Given the description of an element on the screen output the (x, y) to click on. 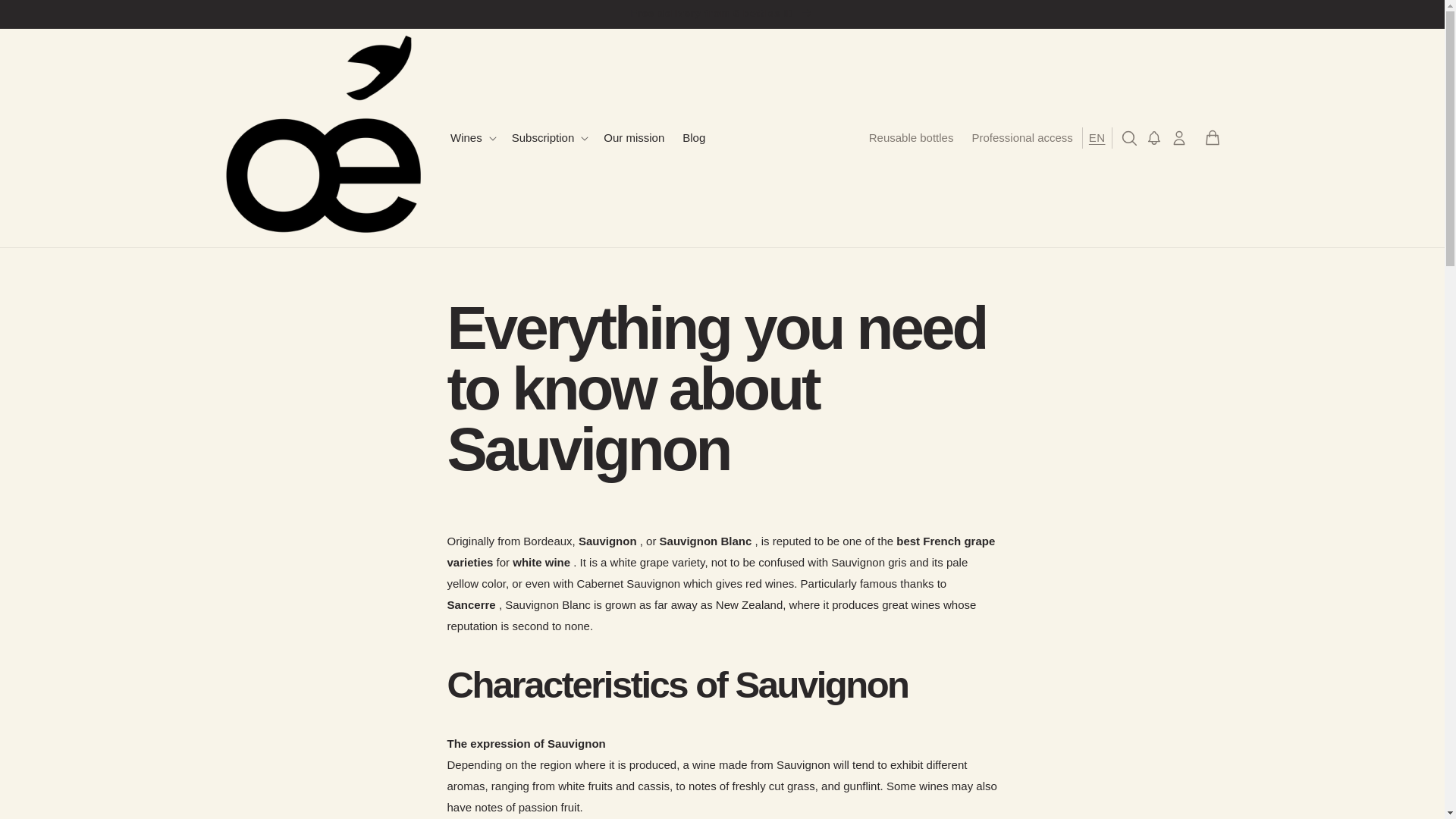
Skip to content (45, 17)
